Given the description of an element on the screen output the (x, y) to click on. 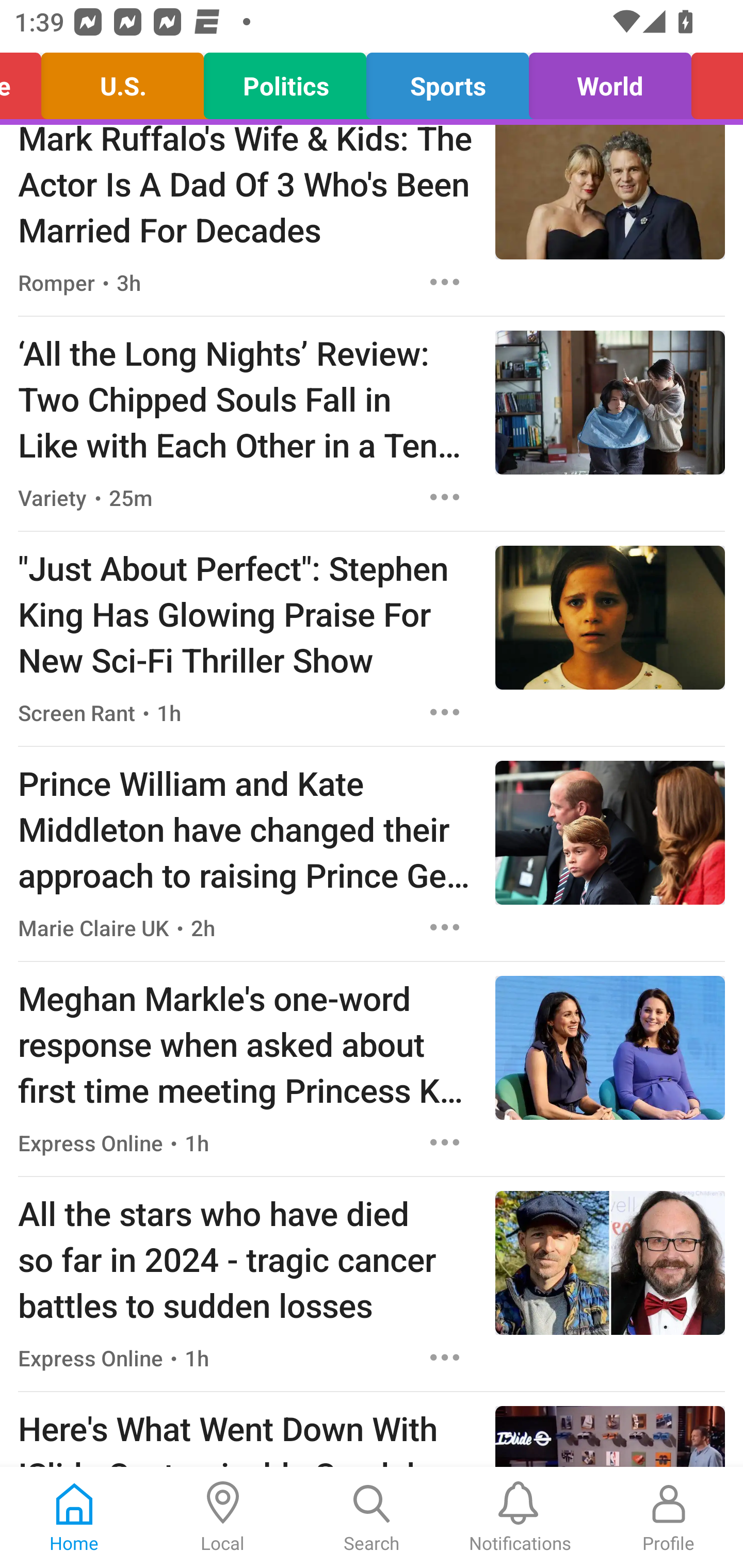
U.S. (122, 81)
Politics (285, 81)
Sports (447, 81)
World (609, 81)
Options (444, 282)
Options (444, 497)
Options (444, 711)
Options (444, 927)
Options (444, 1142)
Options (444, 1357)
Local (222, 1517)
Search (371, 1517)
Notifications (519, 1517)
Profile (668, 1517)
